Given the description of an element on the screen output the (x, y) to click on. 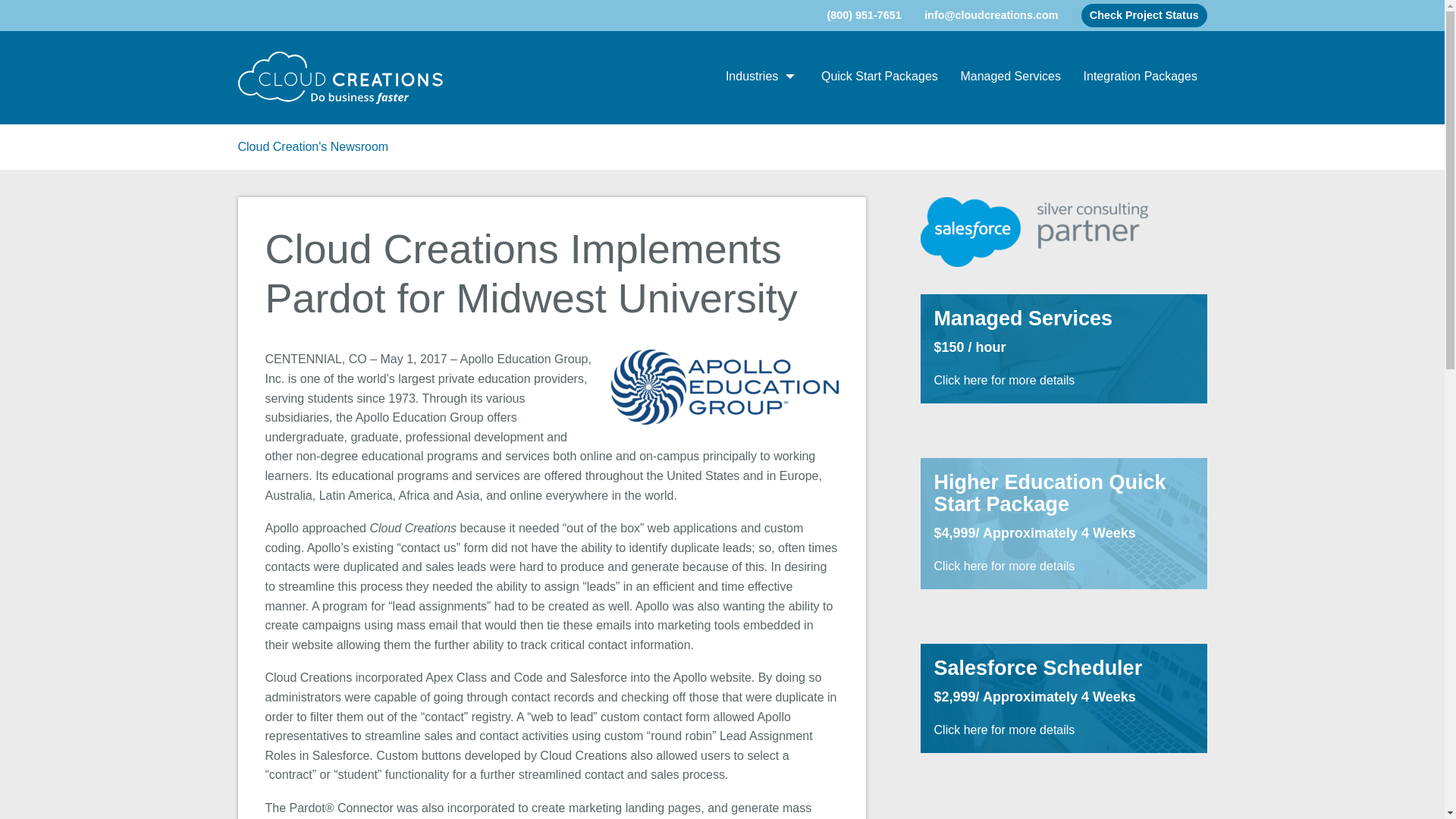
Cloud Creation's Newsroom (313, 146)
Industries (761, 77)
Integration Packages (1139, 77)
Check Project Status (1144, 15)
Quick Start Packages (879, 77)
Managed Services (1010, 77)
